Given the description of an element on the screen output the (x, y) to click on. 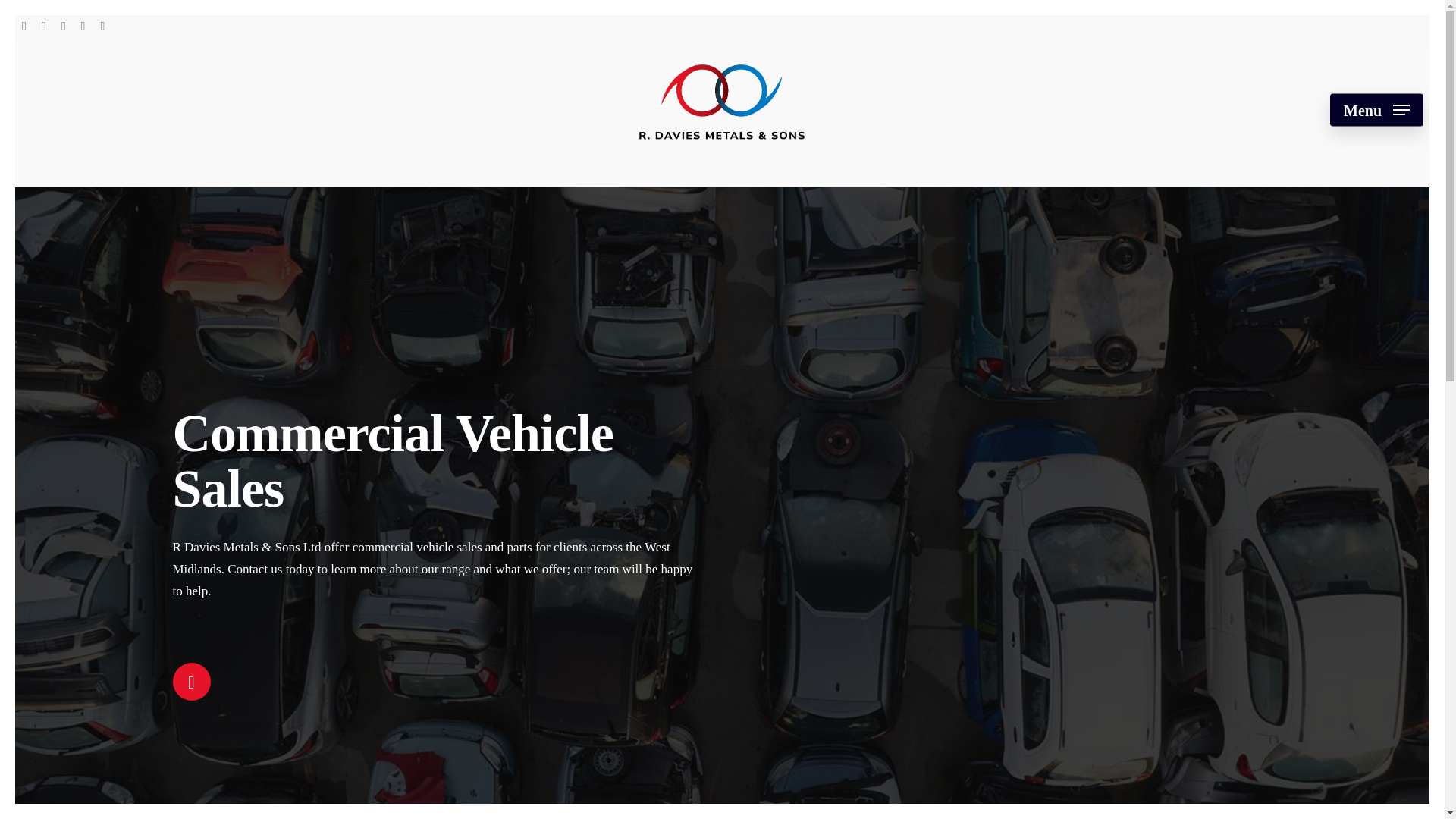
Menu (1376, 109)
Home (189, 160)
